Given the description of an element on the screen output the (x, y) to click on. 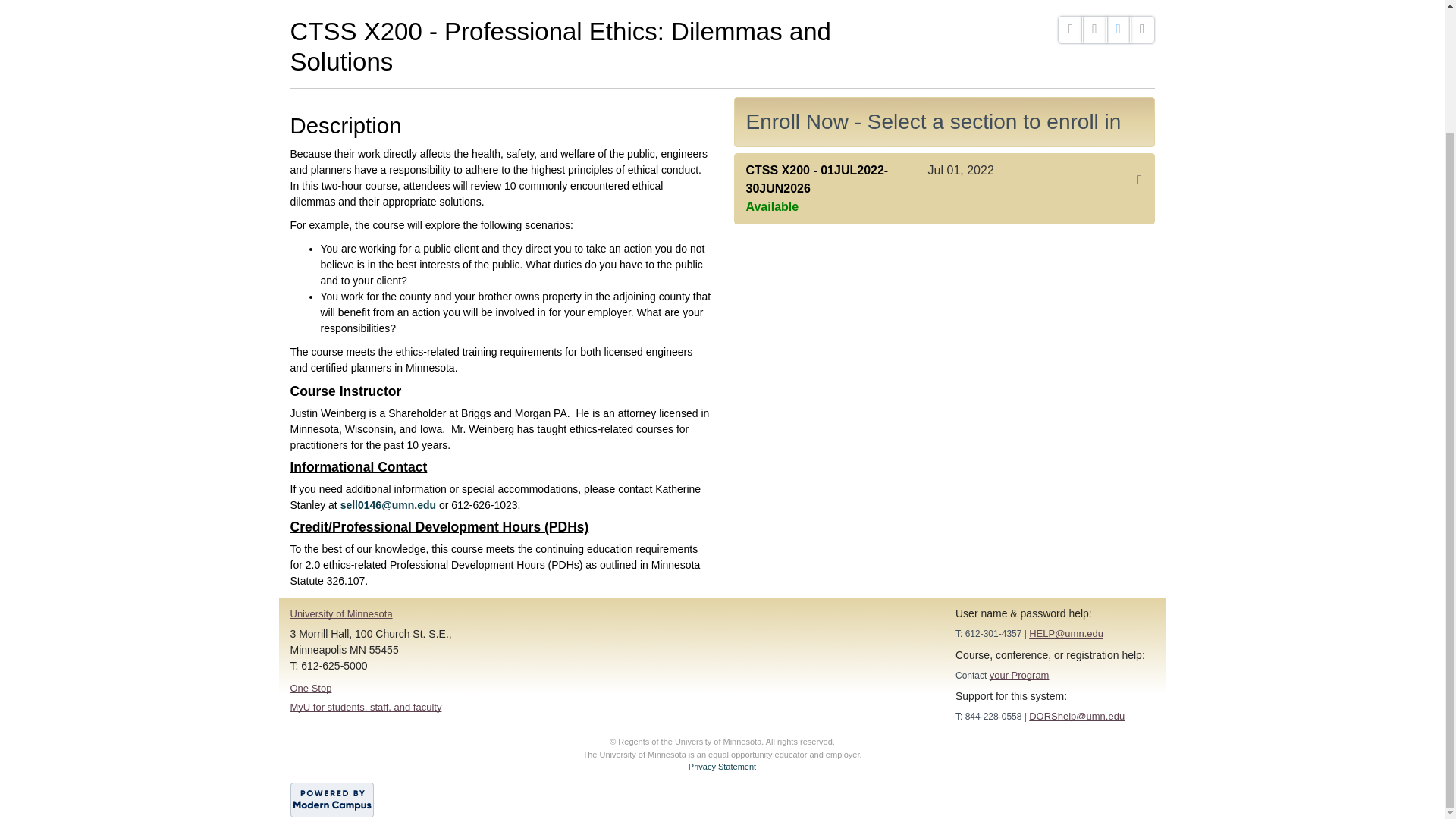
One Stop (310, 687)
Print Version (1141, 29)
Remind me of this course at a later date (1093, 29)
Privacy Statement (721, 766)
Powered by Lifelong Learning EE (330, 799)
University of Minnesota (340, 613)
your Program (1019, 674)
Search Again (427, 1)
Search Results (341, 1)
Course Inquiry (1118, 29)
